Given the description of an element on the screen output the (x, y) to click on. 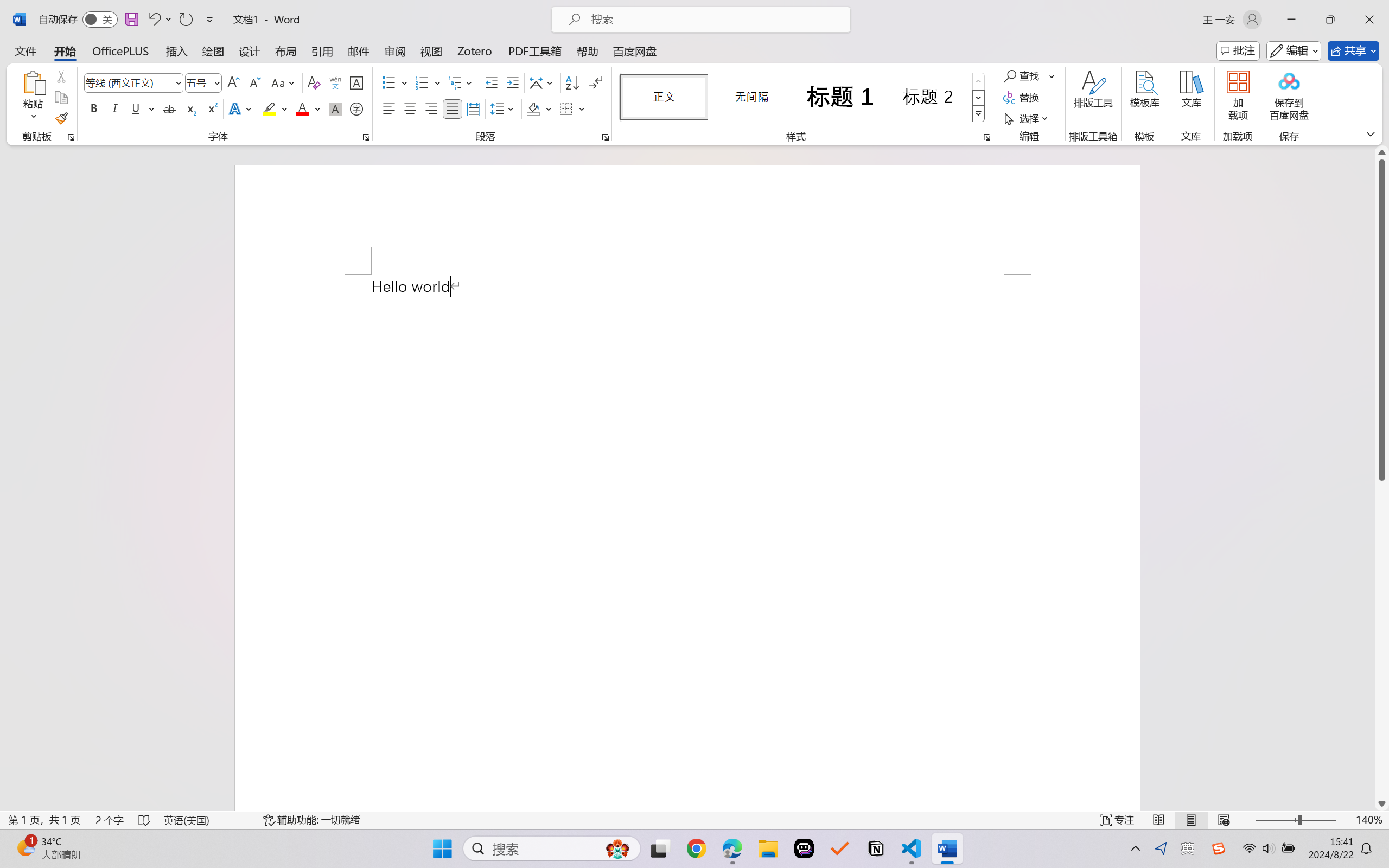
Class: NetUIScrollBar (1382, 477)
